Given the description of an element on the screen output the (x, y) to click on. 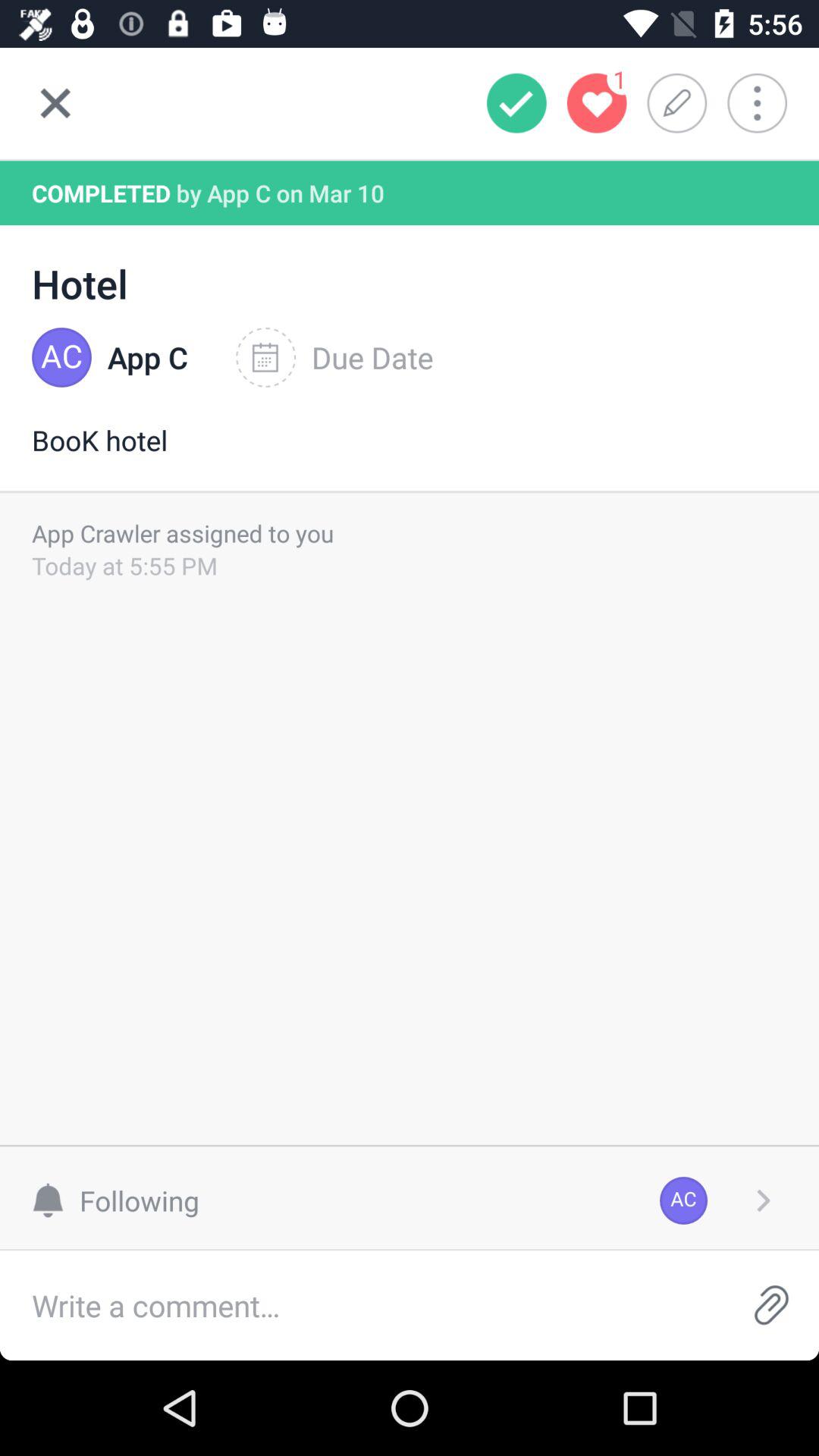
press the item below the following (361, 1305)
